Given the description of an element on the screen output the (x, y) to click on. 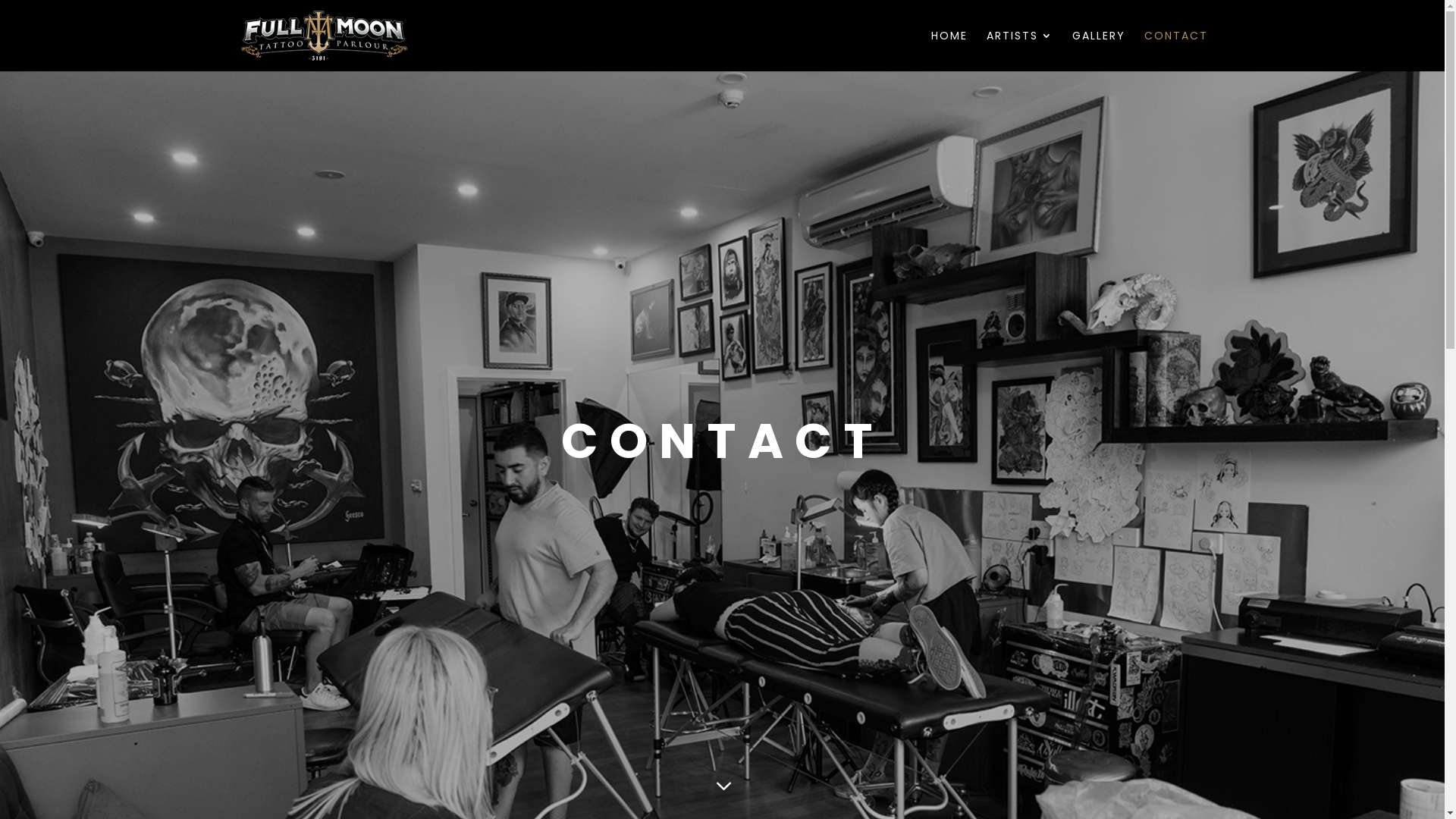
3 Element type: text (721, 786)
HOME Element type: text (949, 50)
ARTISTS Element type: text (1018, 50)
GALLERY Element type: text (1098, 50)
CONTACT Element type: text (1175, 50)
